Given the description of an element on the screen output the (x, y) to click on. 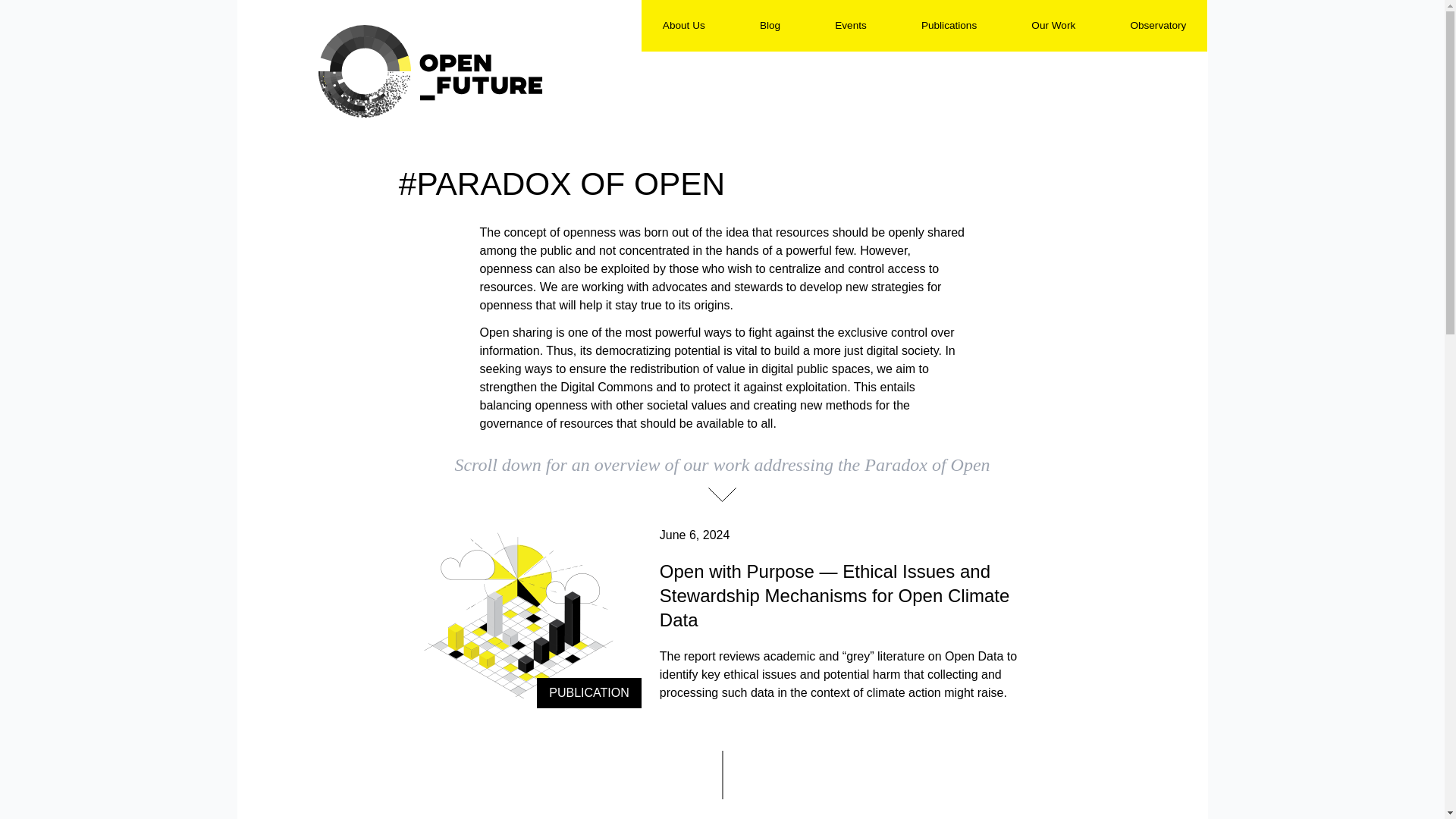
Blog (770, 25)
Our Work (1052, 25)
June 6, 2024 (694, 534)
Events (850, 25)
Observatory (1157, 25)
PUBLICATION (520, 617)
About Us (683, 25)
Publications (948, 25)
